Given the description of an element on the screen output the (x, y) to click on. 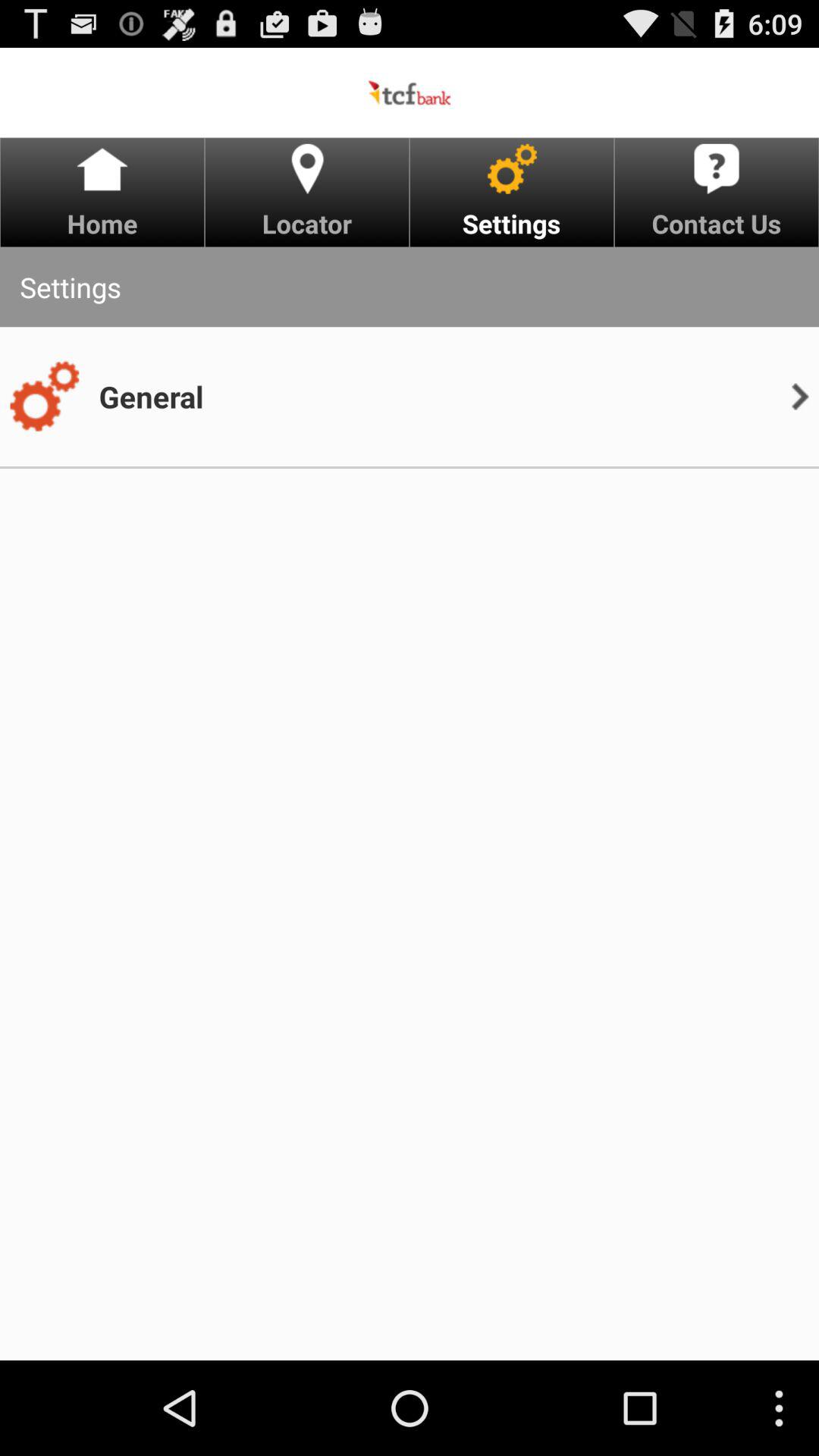
turn on app next to general item (799, 396)
